Given the description of an element on the screen output the (x, y) to click on. 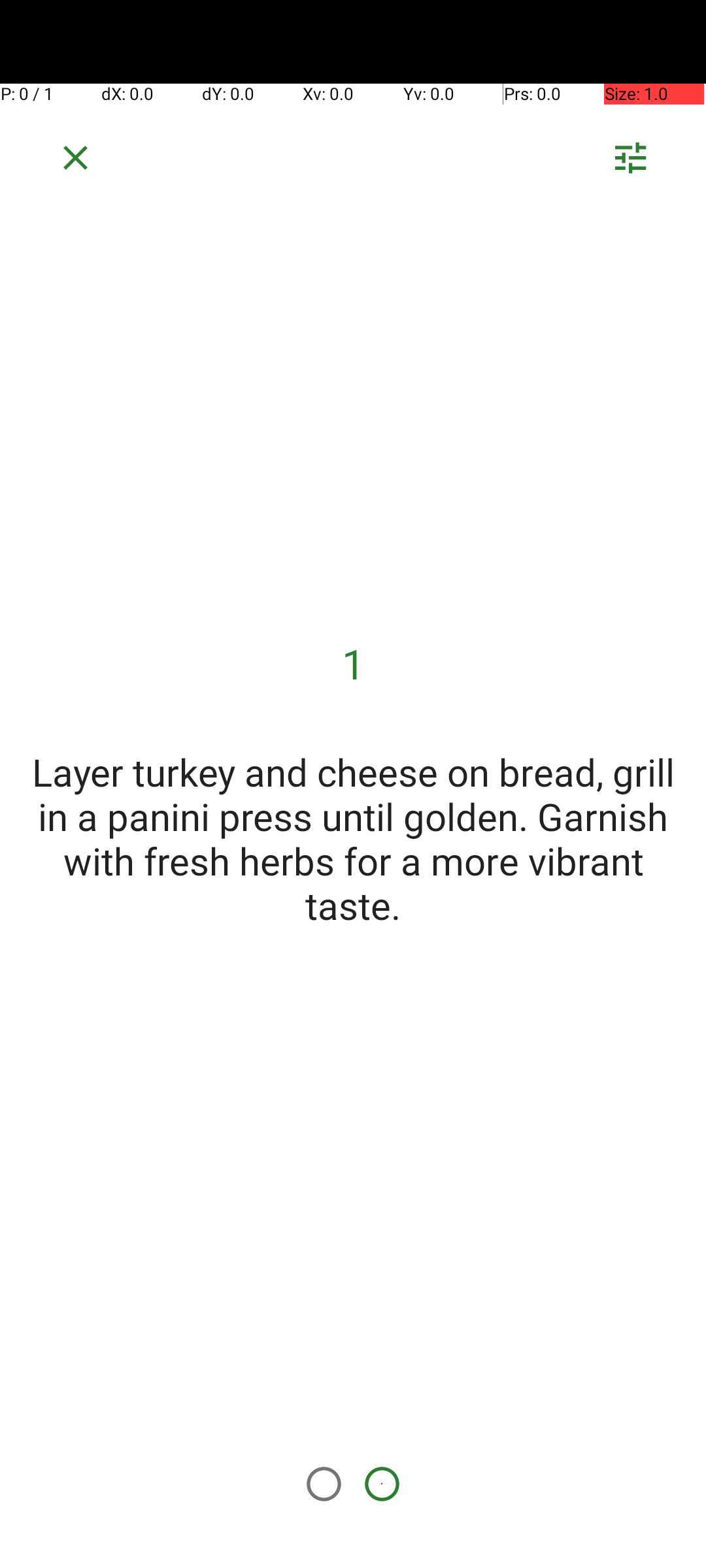
Layer turkey and cheese on bread, grill in a panini press until golden. Garnish with fresh herbs for a more vibrant taste. Element type: android.widget.TextView (352, 838)
